Given the description of an element on the screen output the (x, y) to click on. 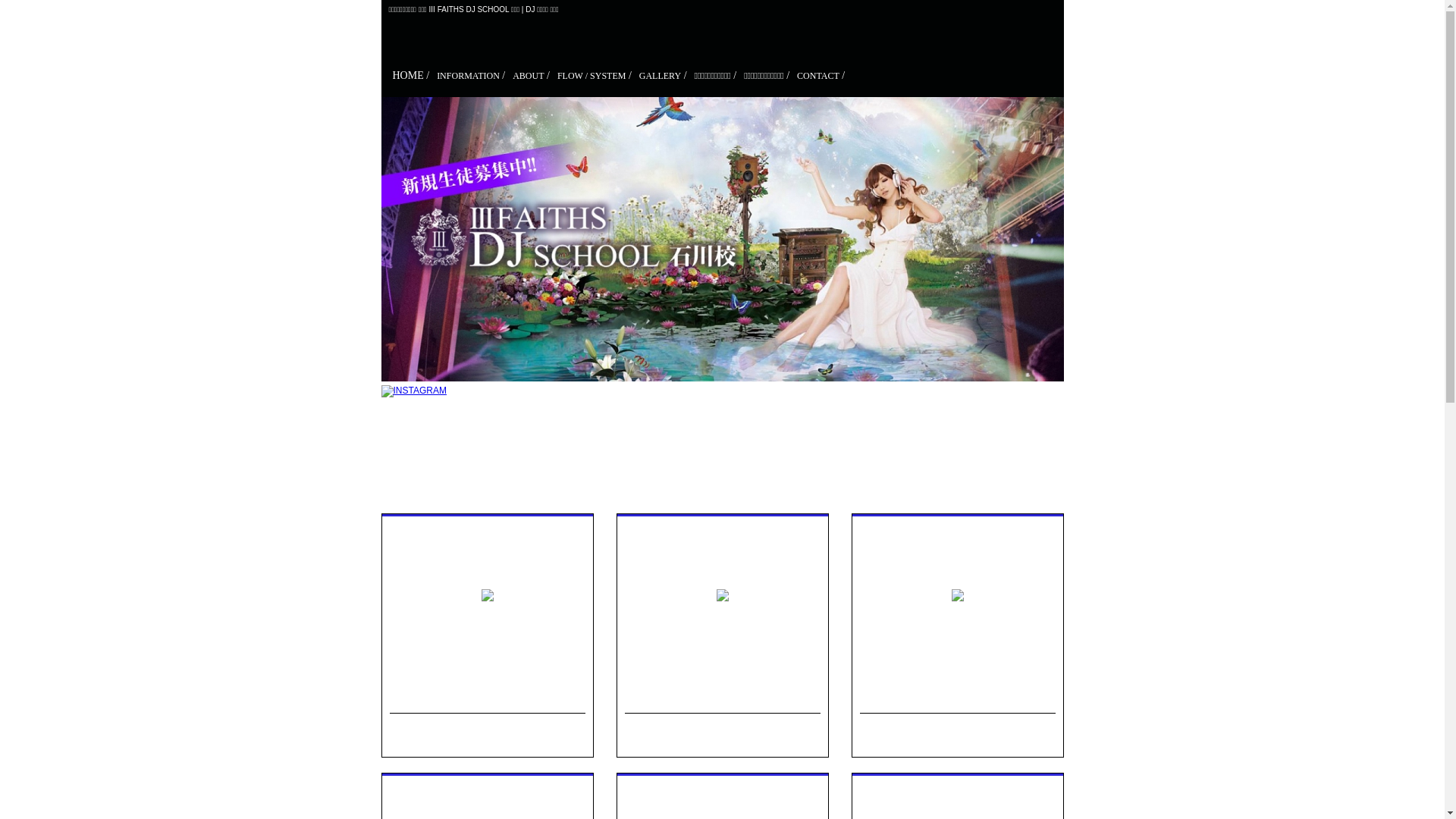
FLOW / SYSTEM Element type: text (901, 699)
ABOUT / Element type: text (530, 75)
INFORMATION Element type: text (426, 699)
ABOUT Element type: text (527, 75)
INFORMATION / Element type: text (470, 75)
CONTACT / Element type: text (820, 75)
FLOW / SYSTEM Element type: text (591, 75)
FLOW / SYSTEM / Element type: text (594, 75)
GALLERY / Element type: text (662, 75)
GALLERY Element type: text (659, 75)
INFORMATION Element type: text (467, 75)
CONTACT Element type: text (818, 75)
HOME Element type: text (407, 75)
ABOUT Element type: text (643, 699)
